Given the description of an element on the screen output the (x, y) to click on. 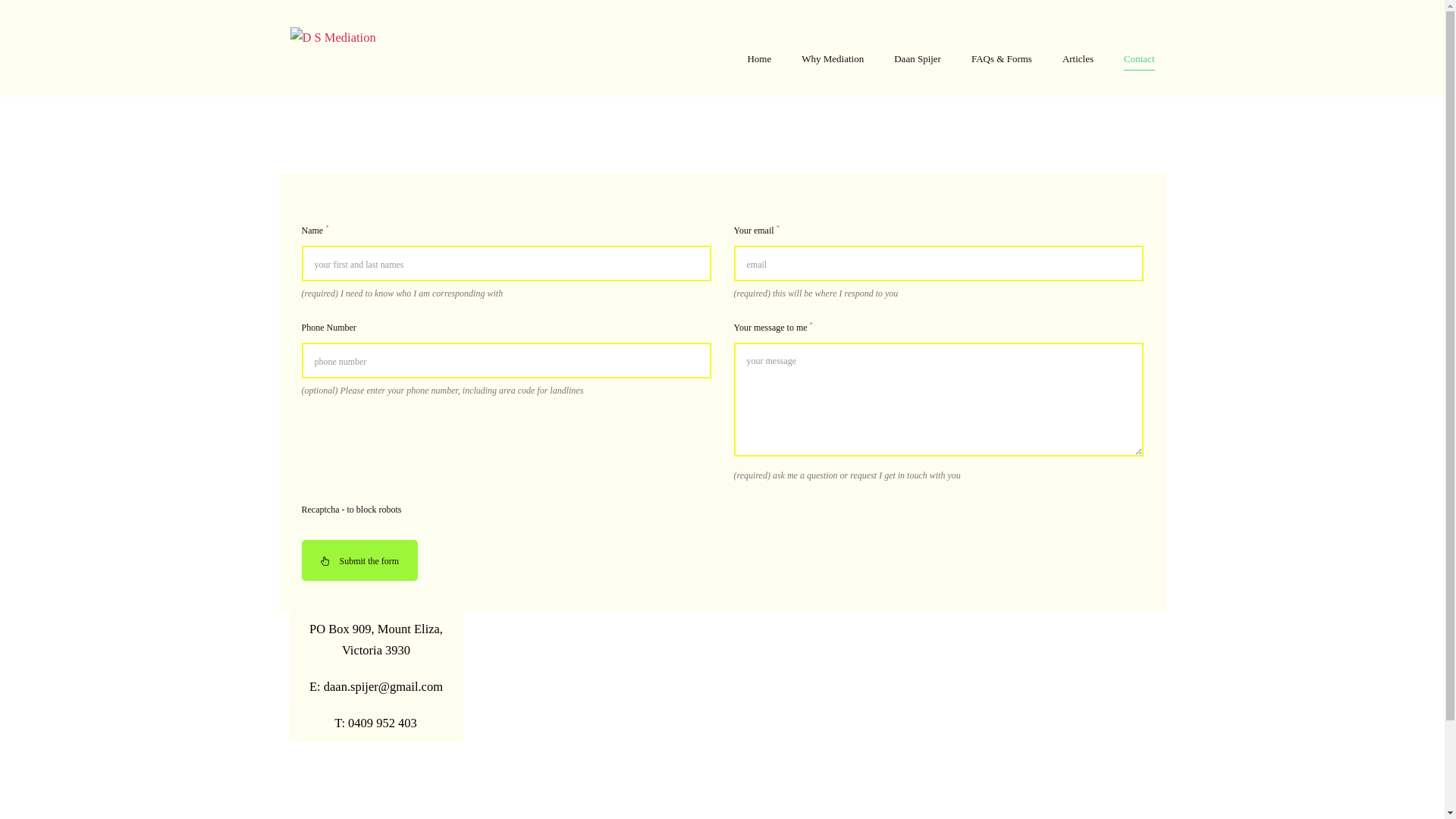
Submit the form Element type: text (359, 559)
Contact Element type: text (1138, 58)
Why Mediation Element type: text (832, 58)
Daan Spijer Element type: text (917, 58)
FAQs & Forms Element type: text (1001, 58)
Articles Element type: text (1077, 58)
Home Element type: text (758, 58)
